Given the description of an element on the screen output the (x, y) to click on. 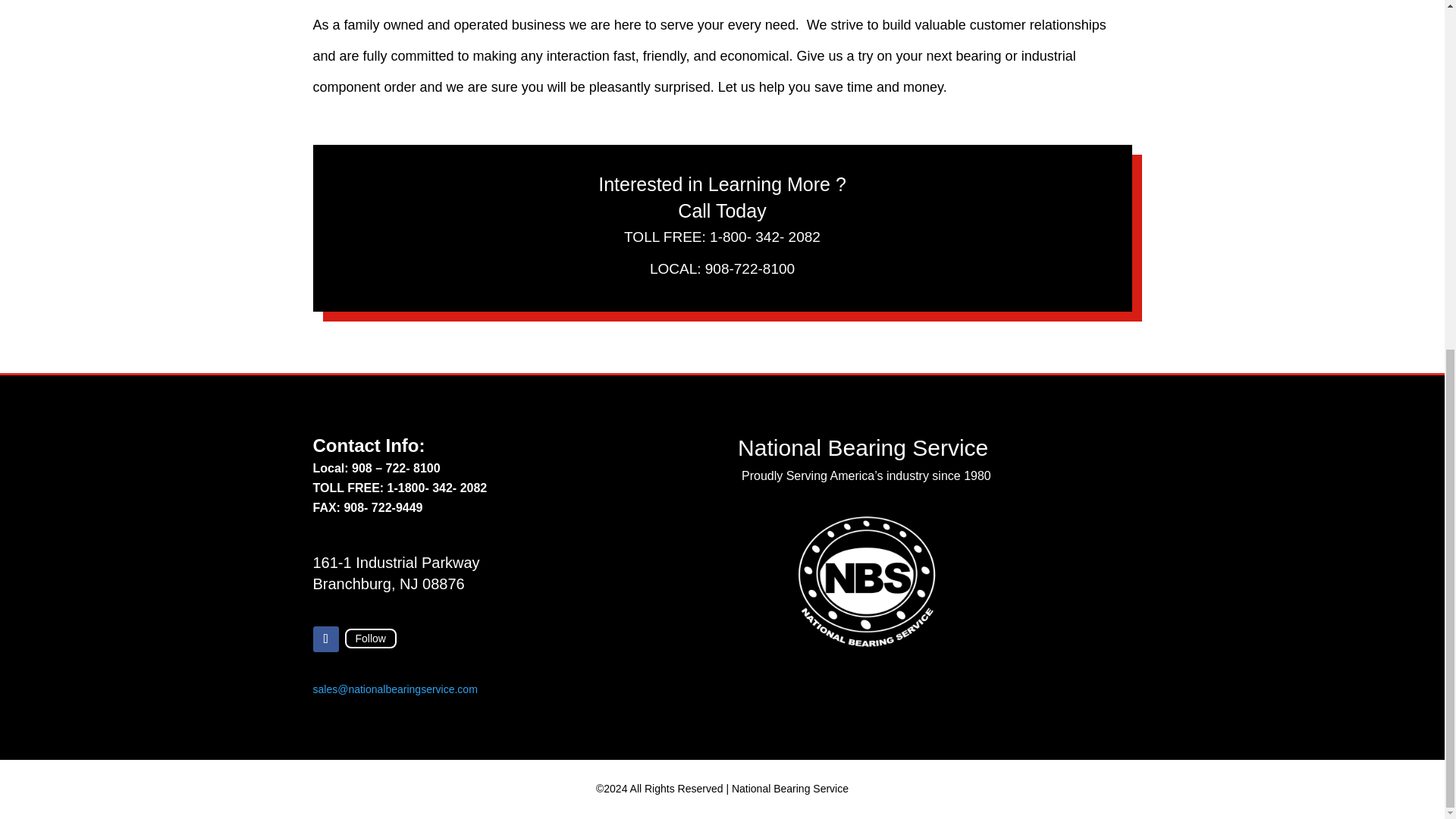
Follow (369, 638)
Facebook (369, 638)
Follow on Facebook (325, 638)
